Given the description of an element on the screen output the (x, y) to click on. 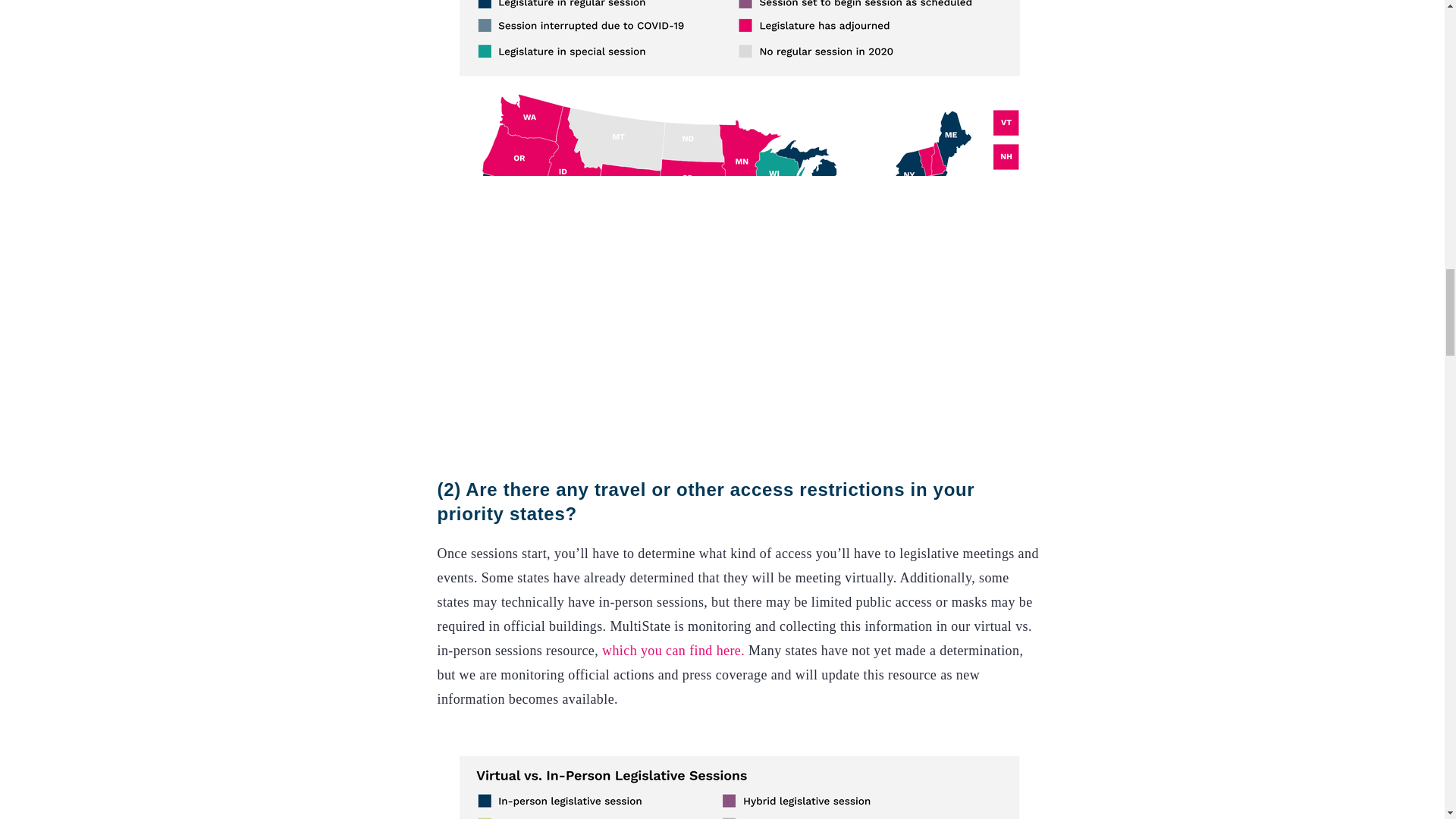
which you can find here. (673, 650)
Click to open full size image (739, 777)
